Given the description of an element on the screen output the (x, y) to click on. 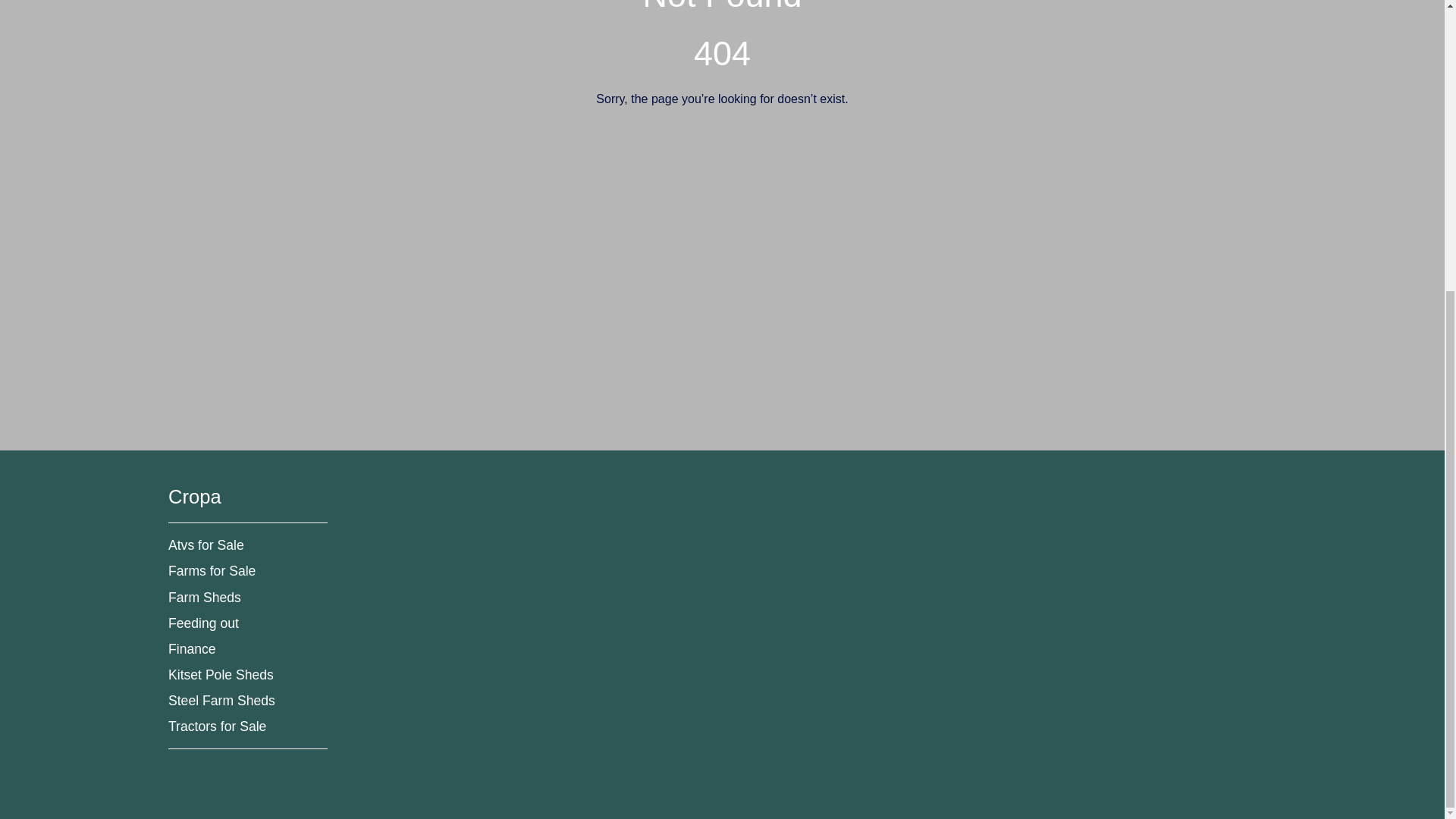
Atvs for Sale (206, 544)
Feeding out (203, 622)
Farms for Sale (212, 570)
Farm Sheds (204, 597)
Tractors for Sale (217, 726)
Cropa (194, 496)
Steel Farm Sheds (221, 700)
Kitset Pole Sheds (220, 674)
Finance (191, 648)
